Given the description of an element on the screen output the (x, y) to click on. 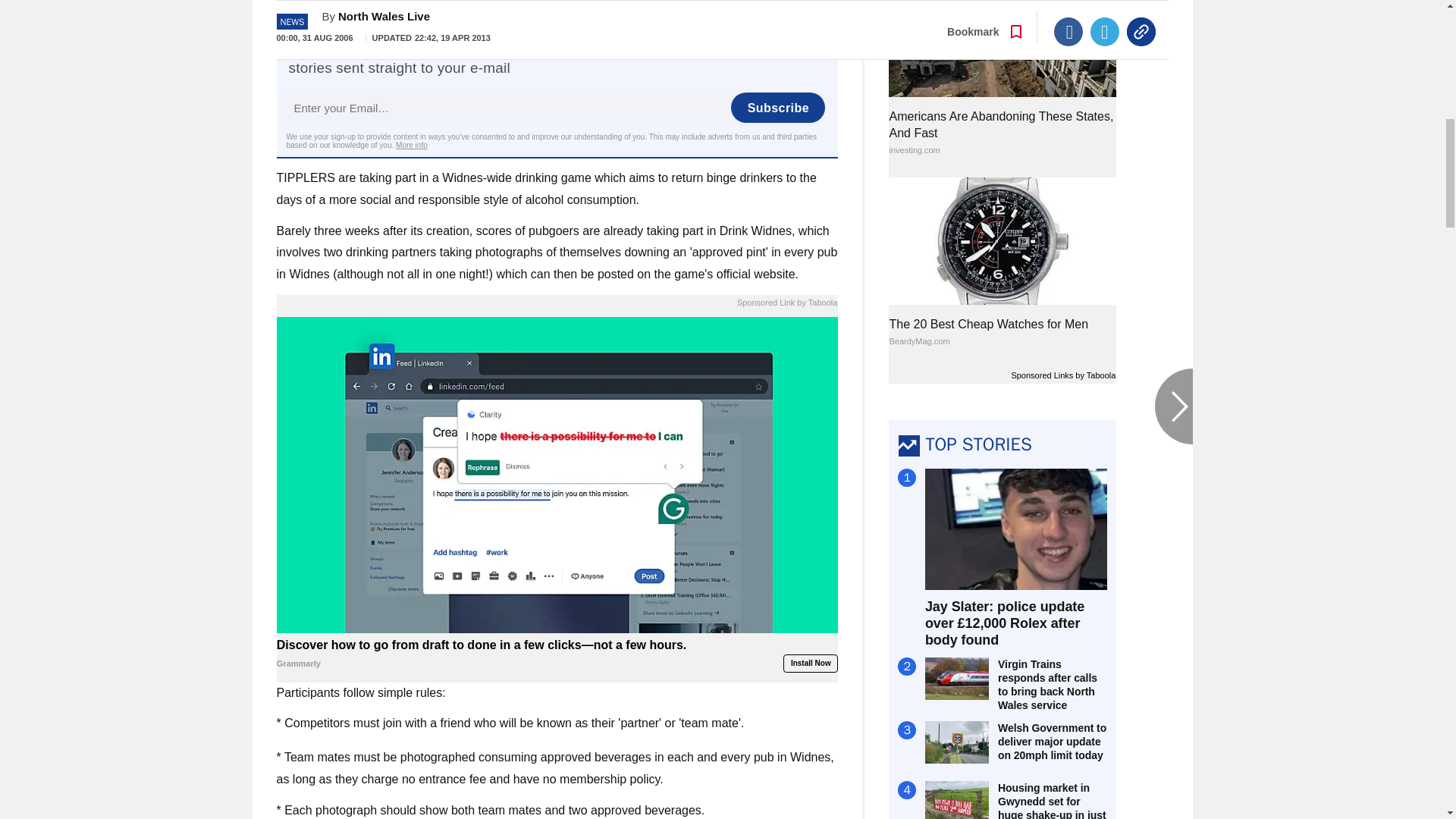
Go (730, 4)
